Given the description of an element on the screen output the (x, y) to click on. 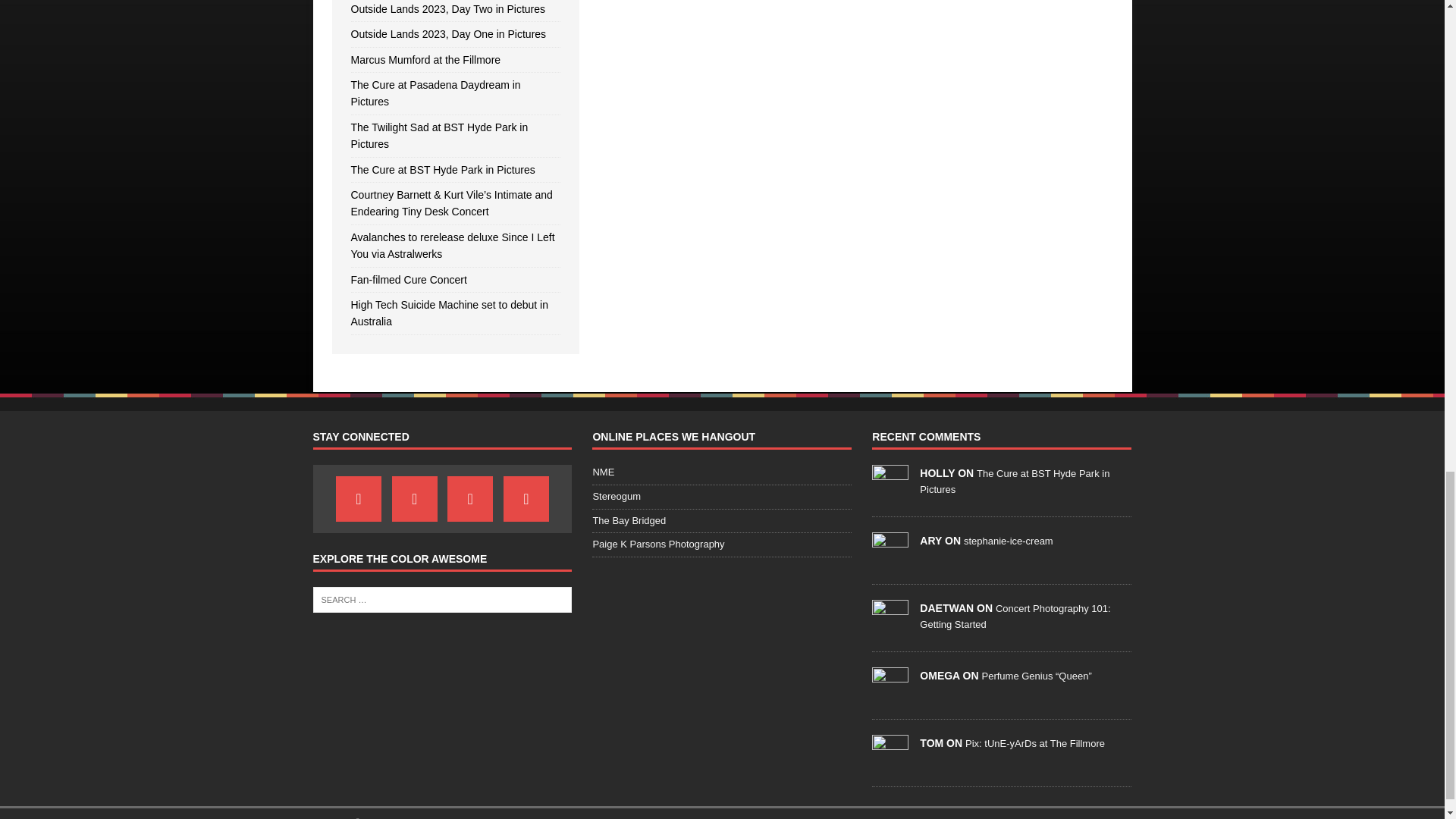
Daetwan (890, 627)
Holly (890, 491)
Ary (890, 559)
